Given the description of an element on the screen output the (x, y) to click on. 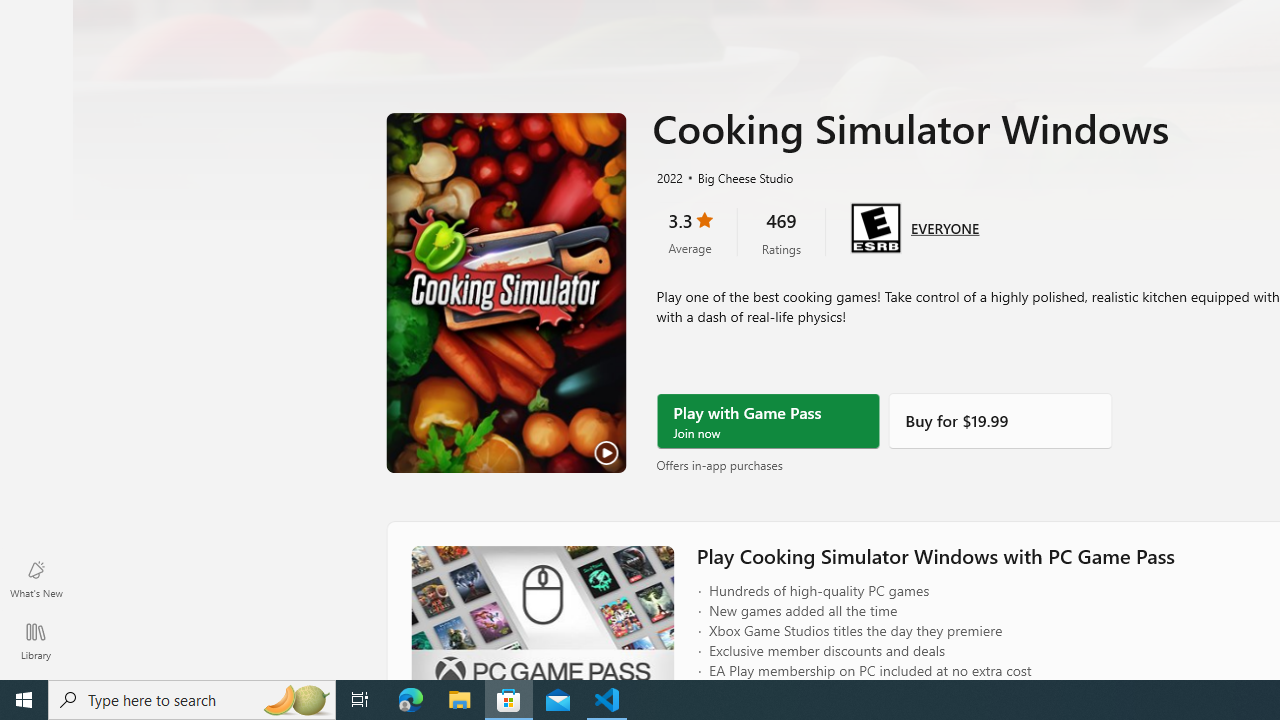
Library (35, 640)
Play Trailer (505, 293)
2022 (667, 177)
3.3 stars. Click to skip to ratings and reviews (689, 232)
Play with Game Pass (767, 421)
What's New (35, 578)
Big Cheese Studio (737, 177)
Age rating: EVERYONE. Click for more information. (945, 226)
Buy (1000, 421)
